Given the description of an element on the screen output the (x, y) to click on. 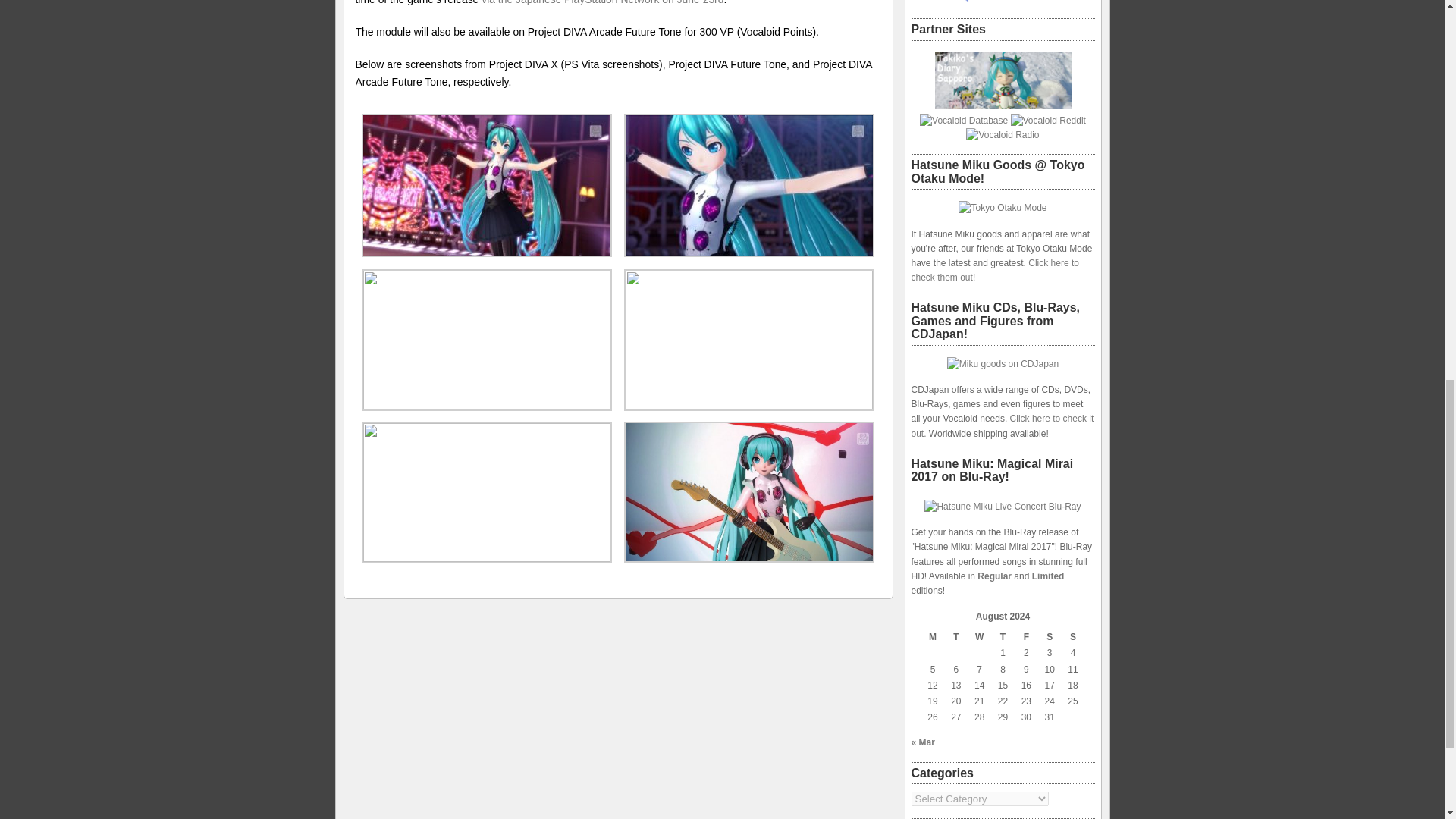
MikuFan Discord (1002, 2)
via the Japanese PlayStation Network on June 23rd (602, 2)
Click here to check them out! (994, 269)
Wednesday (979, 636)
Saturday (1050, 636)
Monday (932, 636)
Tokyo Otaku Mode (1002, 207)
Tuesday (955, 636)
Thursday (1002, 636)
Vocaloid Reddit (1048, 120)
Tokiko's Diary Sapporo (1002, 105)
Friday (1025, 636)
Sunday (1073, 636)
